Given the description of an element on the screen output the (x, y) to click on. 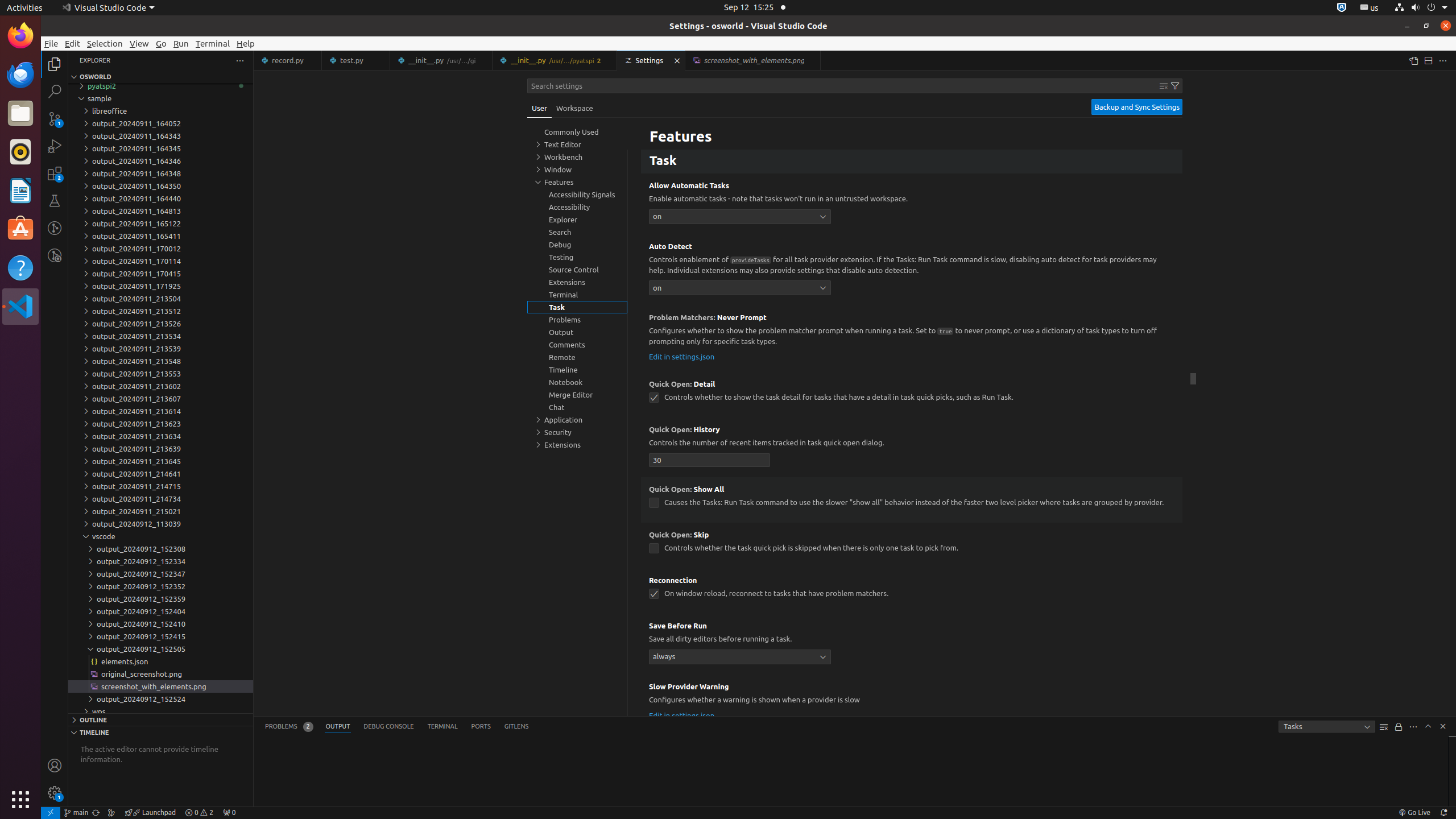
vscode Element type: tree-item (160, 536)
output_20240912_152410 Element type: tree-item (160, 623)
Show the GitLens Commit Graph Element type: push-button (111, 812)
task.autoDetect Element type: combo-box (739, 287)
